Given the description of an element on the screen output the (x, y) to click on. 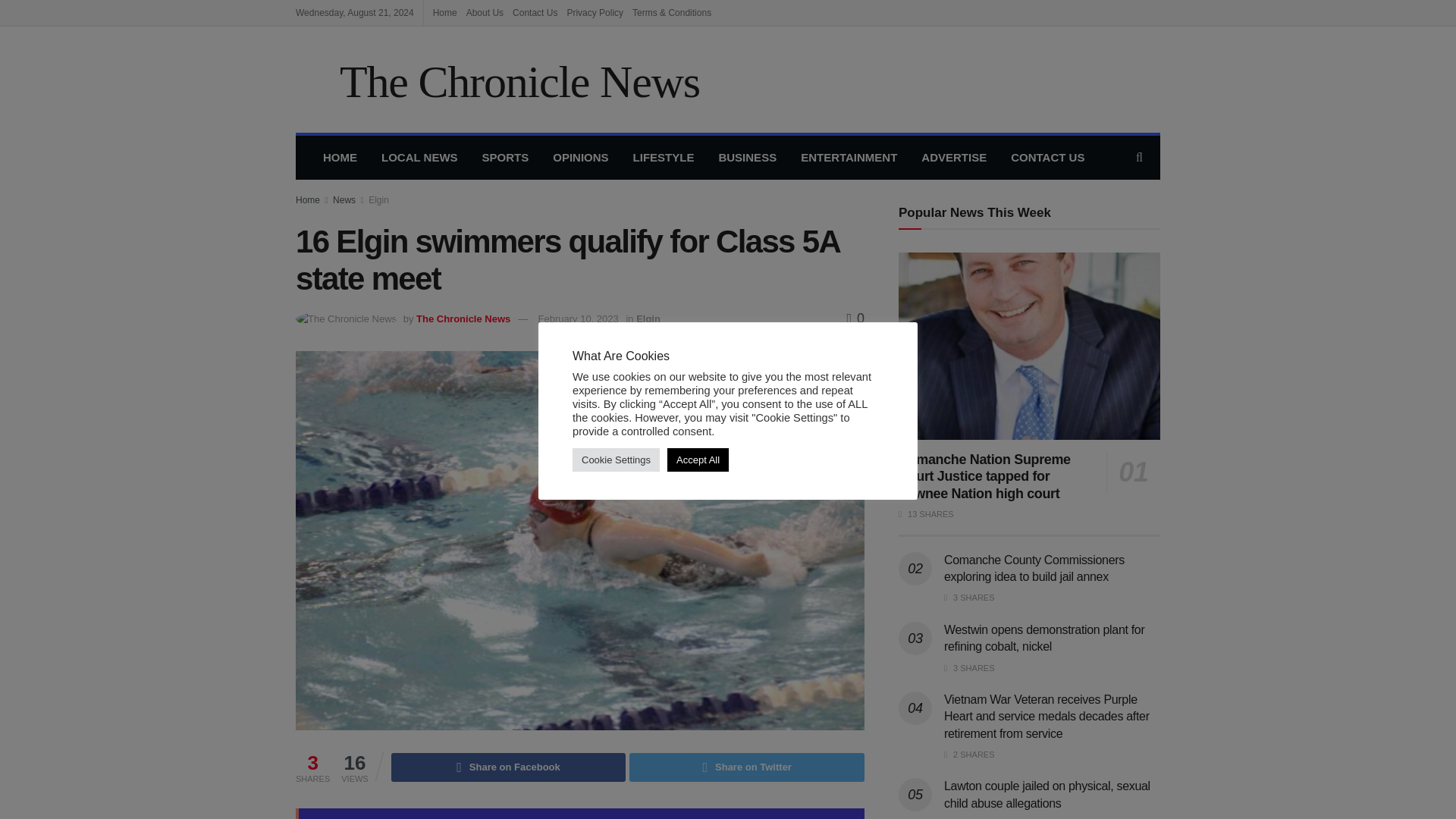
ADVERTISE (953, 157)
News (344, 199)
BUSINESS (747, 157)
The Chronicle News (497, 79)
ENTERTAINMENT (848, 157)
The Chronicle News (463, 318)
Privacy Policy (594, 12)
CONTACT US (1047, 157)
Home (307, 199)
February 10, 2023 (578, 318)
